Given the description of an element on the screen output the (x, y) to click on. 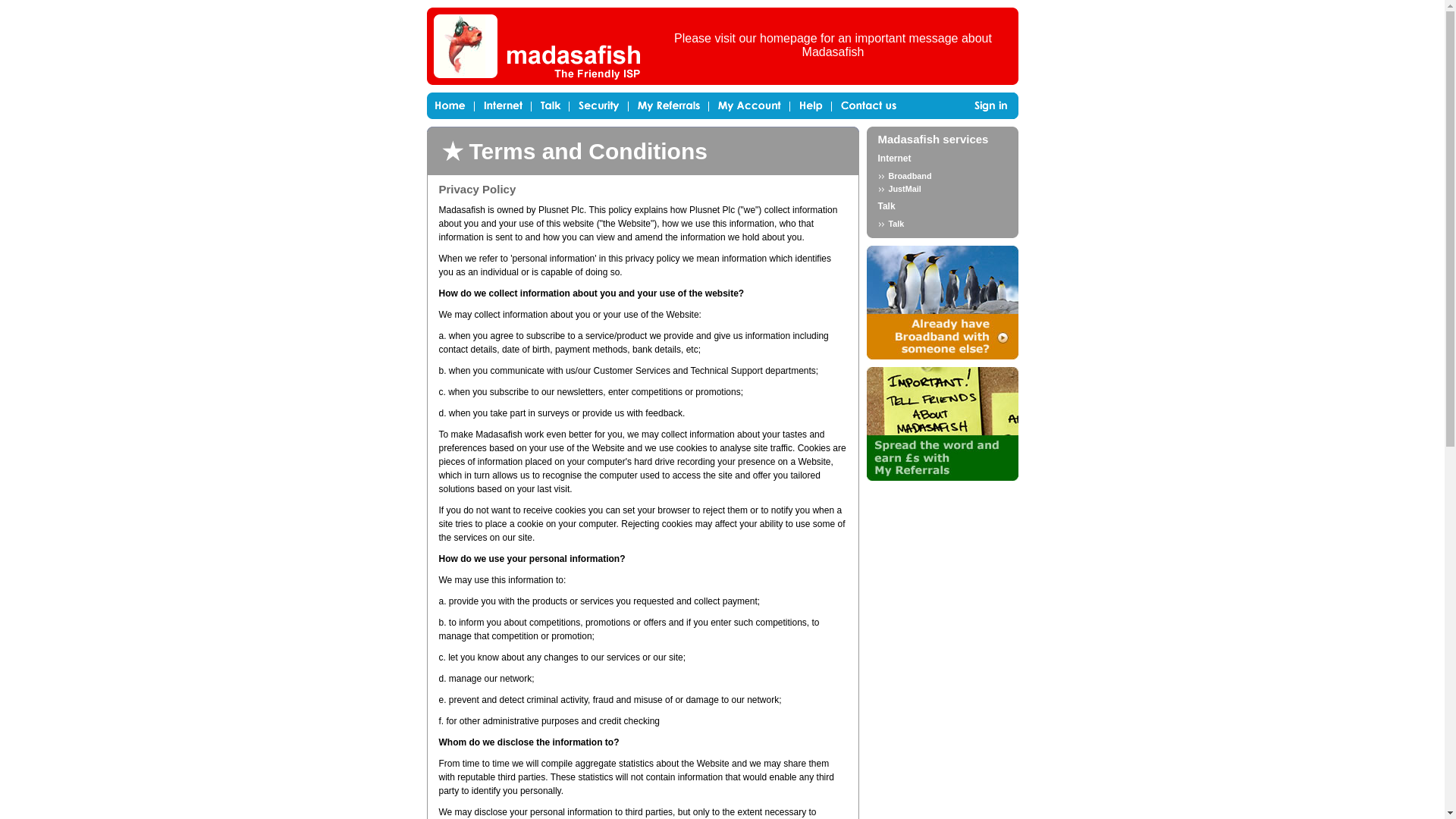
Internet (894, 158)
JustMail (941, 188)
Broadband (941, 175)
Talk (941, 223)
Talk (886, 205)
